Given the description of an element on the screen output the (x, y) to click on. 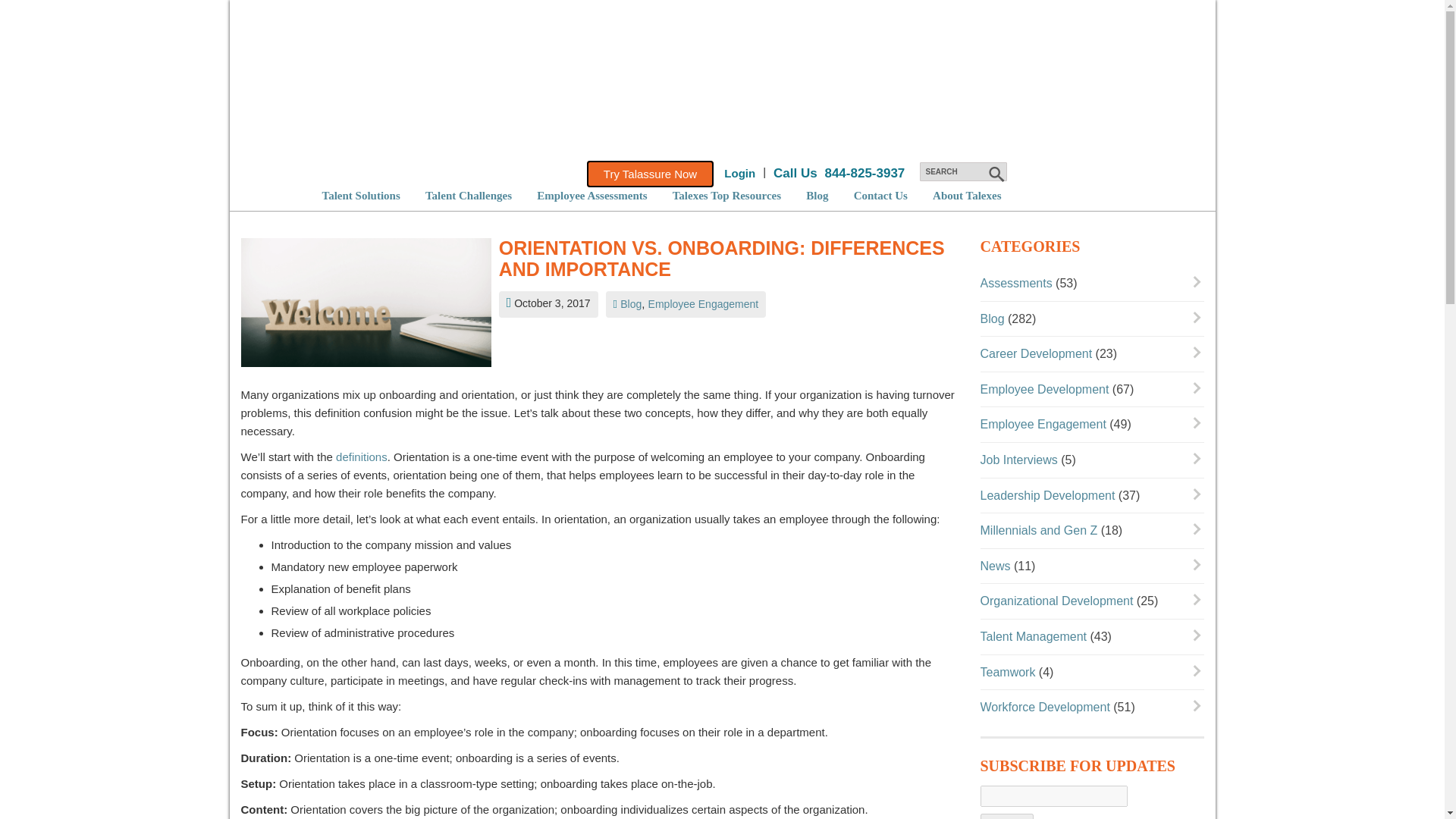
SEARCH (962, 171)
Orientation vs. Onboarding: Differences and Importance (728, 259)
Login (739, 172)
View all posts in Blog (631, 304)
submit (994, 173)
Talent Solutions (359, 195)
Orientation vs. Onboarding: Differences and Importance (366, 306)
Try Talassure Now (649, 173)
Talent Challenges (468, 195)
View all posts in Employee Engagement (702, 304)
